Given the description of an element on the screen output the (x, y) to click on. 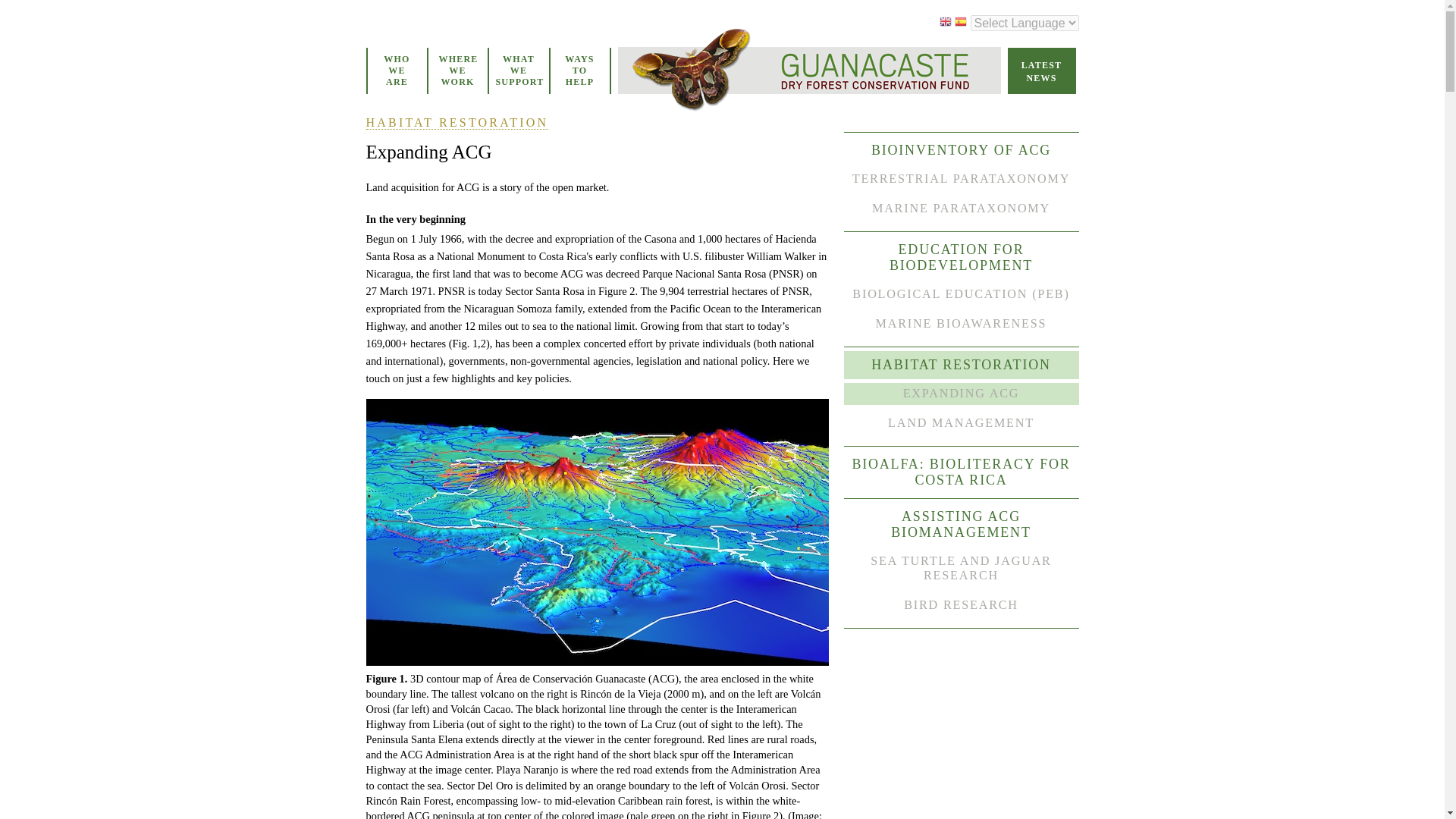
WHO WE ARE (395, 70)
WAYS TO HELP (579, 70)
WHAT WE SUPPORT (518, 70)
English (945, 22)
Spanish (960, 22)
WHERE WE WORK (457, 70)
LATEST NEWS (1041, 68)
HABITAT RESTORATION (456, 122)
